Given the description of an element on the screen output the (x, y) to click on. 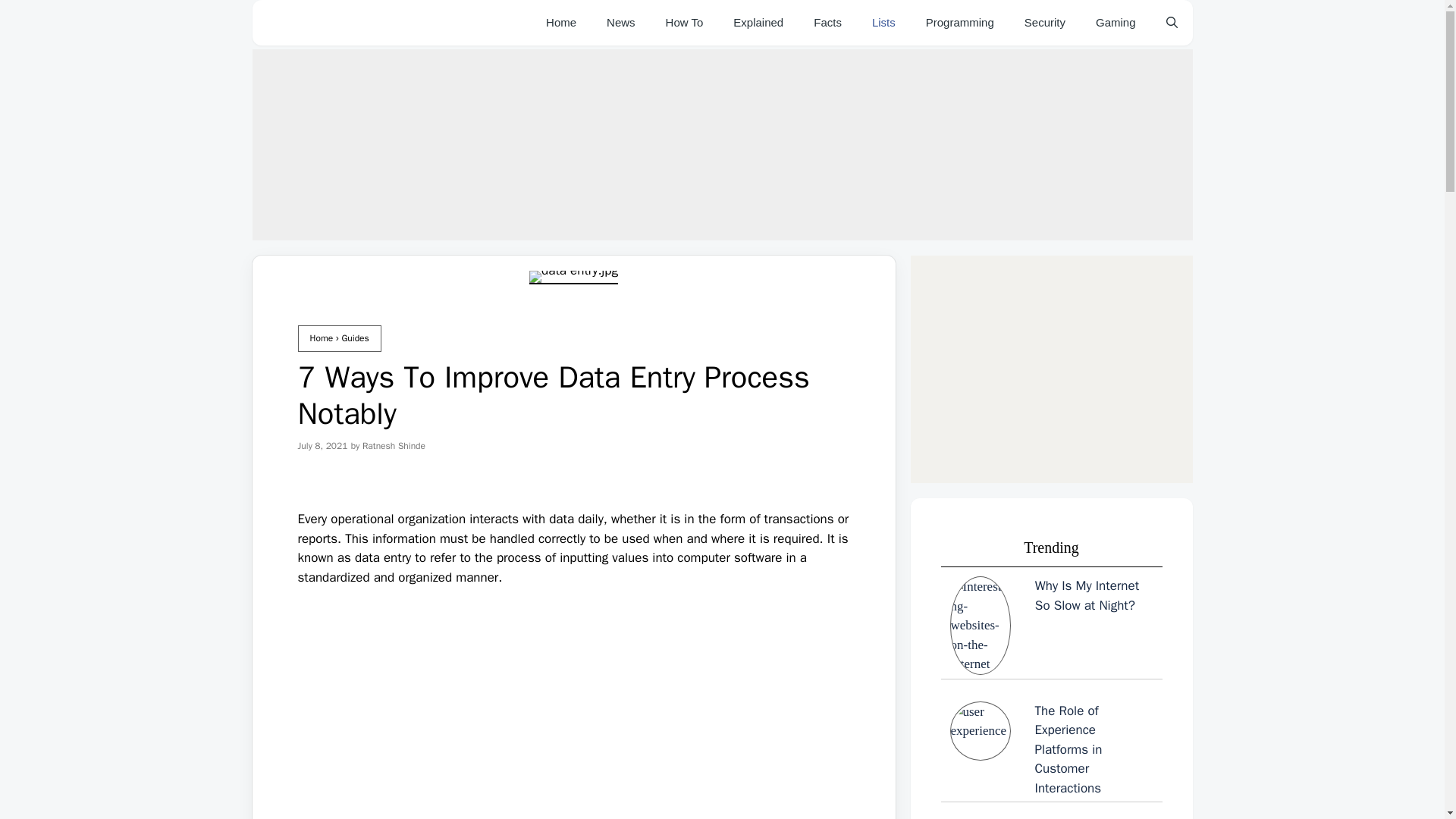
Top Lists (884, 22)
Why Is My Internet So Slow at Night? (1086, 595)
Technology (620, 22)
Guides (354, 337)
Home (320, 337)
Gaming (1115, 22)
Security (1044, 22)
Lists (884, 22)
Explained (757, 22)
How To (684, 22)
View all posts by Ratnesh Shinde (393, 445)
Programming (960, 22)
The Role of Experience Platforms in Customer Interactions  (1051, 749)
Why Is My Internet So Slow at Night? (1051, 625)
Home (561, 22)
